Given the description of an element on the screen output the (x, y) to click on. 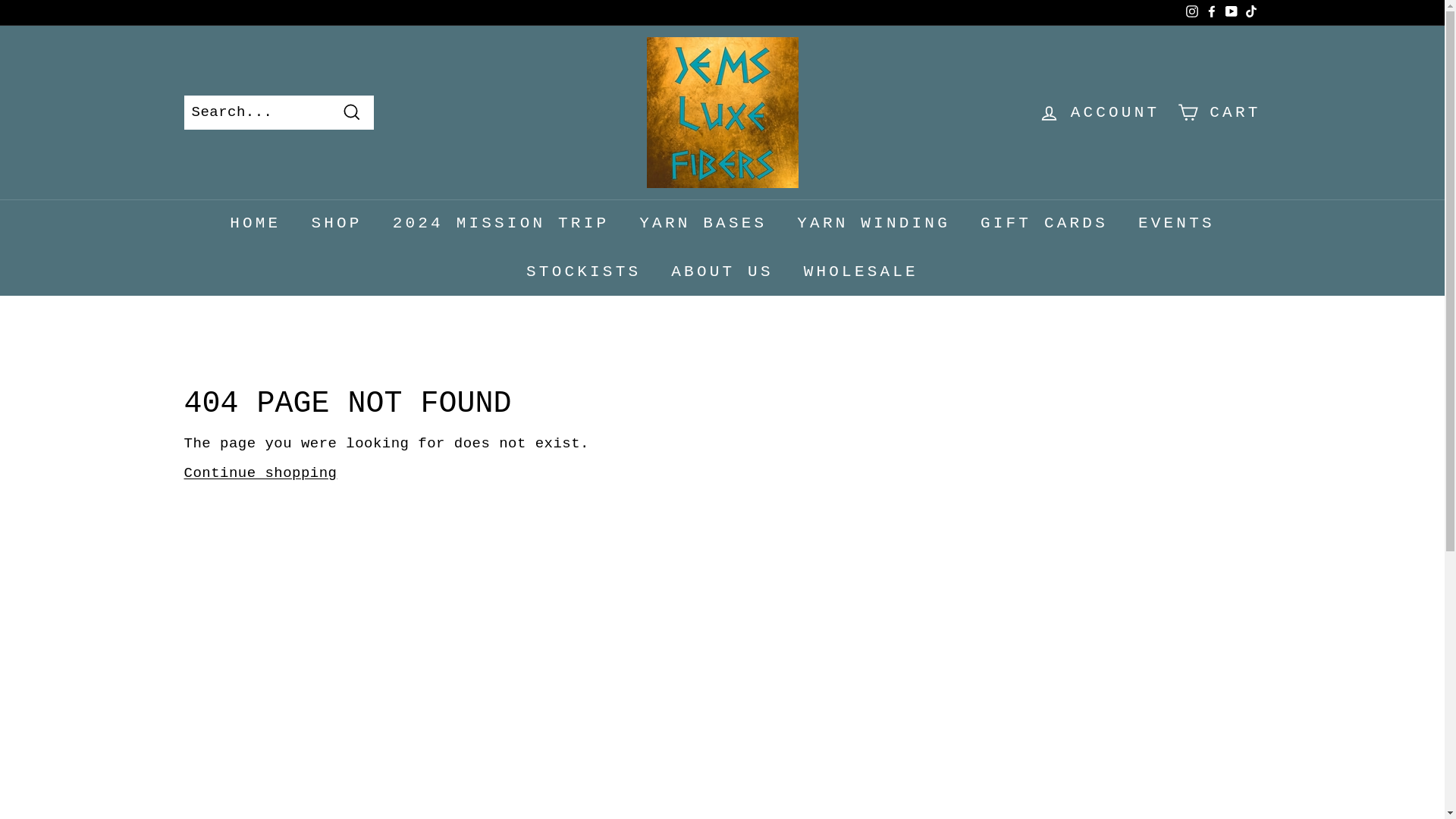
STOCKISTS (583, 272)
YARN BASES (702, 223)
ACCOUNT (1099, 112)
EVENTS (1176, 223)
YARN WINDING (873, 223)
GIFT CARDS (1043, 223)
2024 MISSION TRIP (500, 223)
SHOP (336, 223)
HOME (254, 223)
